Given the description of an element on the screen output the (x, y) to click on. 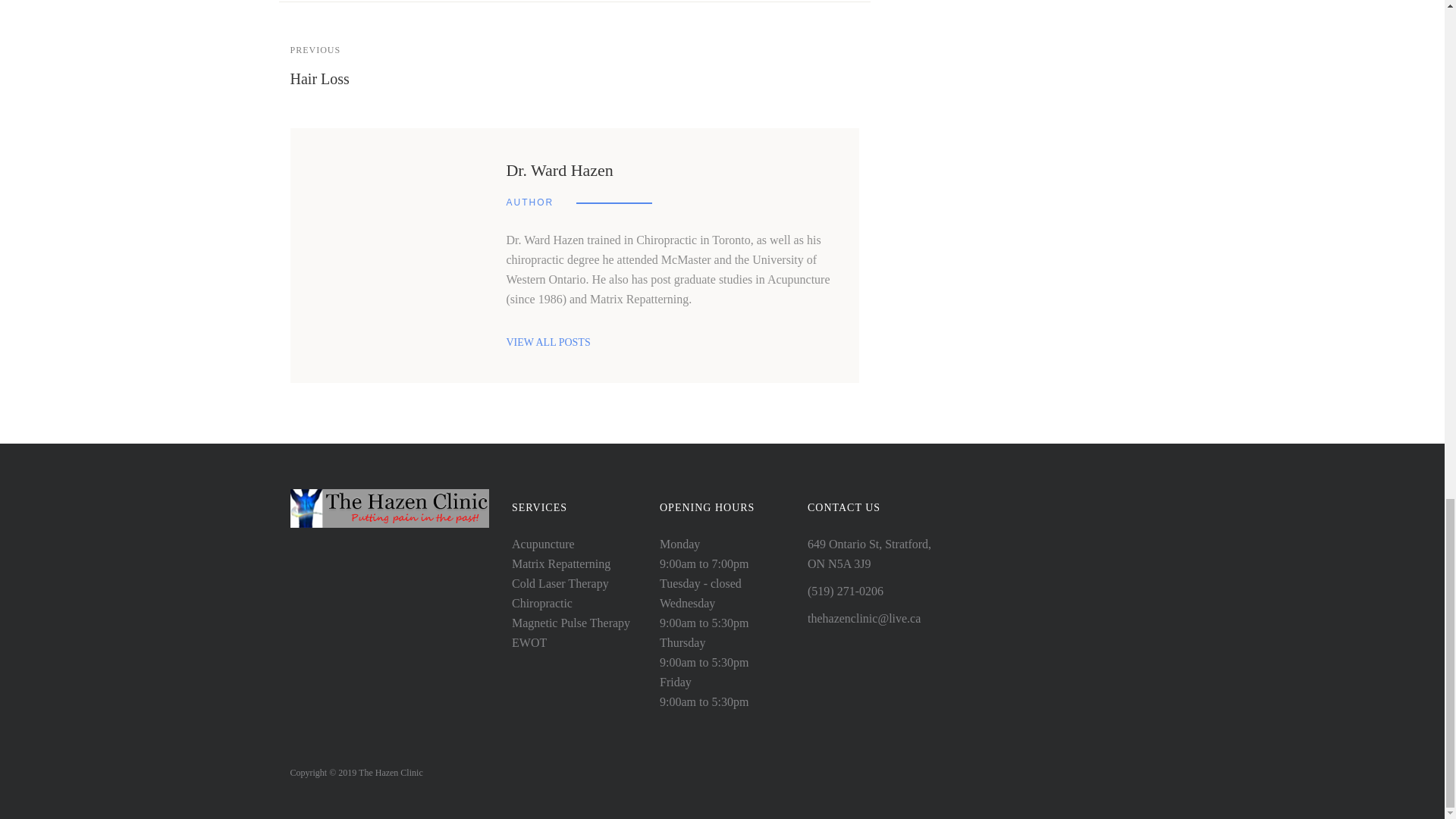
PREVIOUS (314, 49)
VIEW ALL POSTS (547, 342)
Hair Loss (319, 78)
Hair Loss (319, 78)
